Given the description of an element on the screen output the (x, y) to click on. 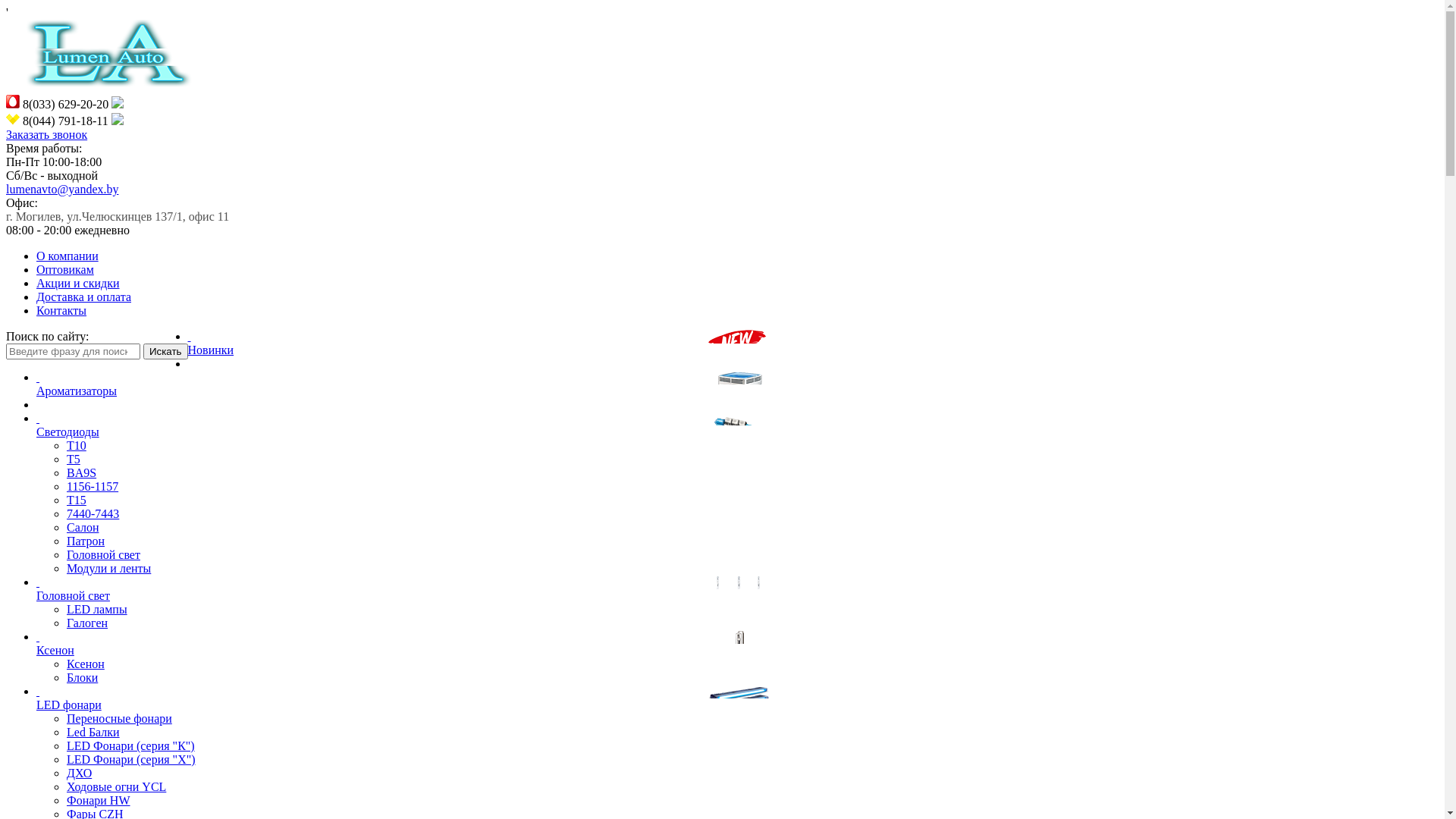
T10 Element type: text (76, 445)
lumenavto@yandex.by Element type: text (62, 188)
T5 Element type: text (73, 458)
T15 Element type: text (76, 499)
1156-1157 Element type: text (92, 486)
7440-7443 Element type: text (92, 513)
BA9S Element type: text (81, 472)
